Given the description of an element on the screen output the (x, y) to click on. 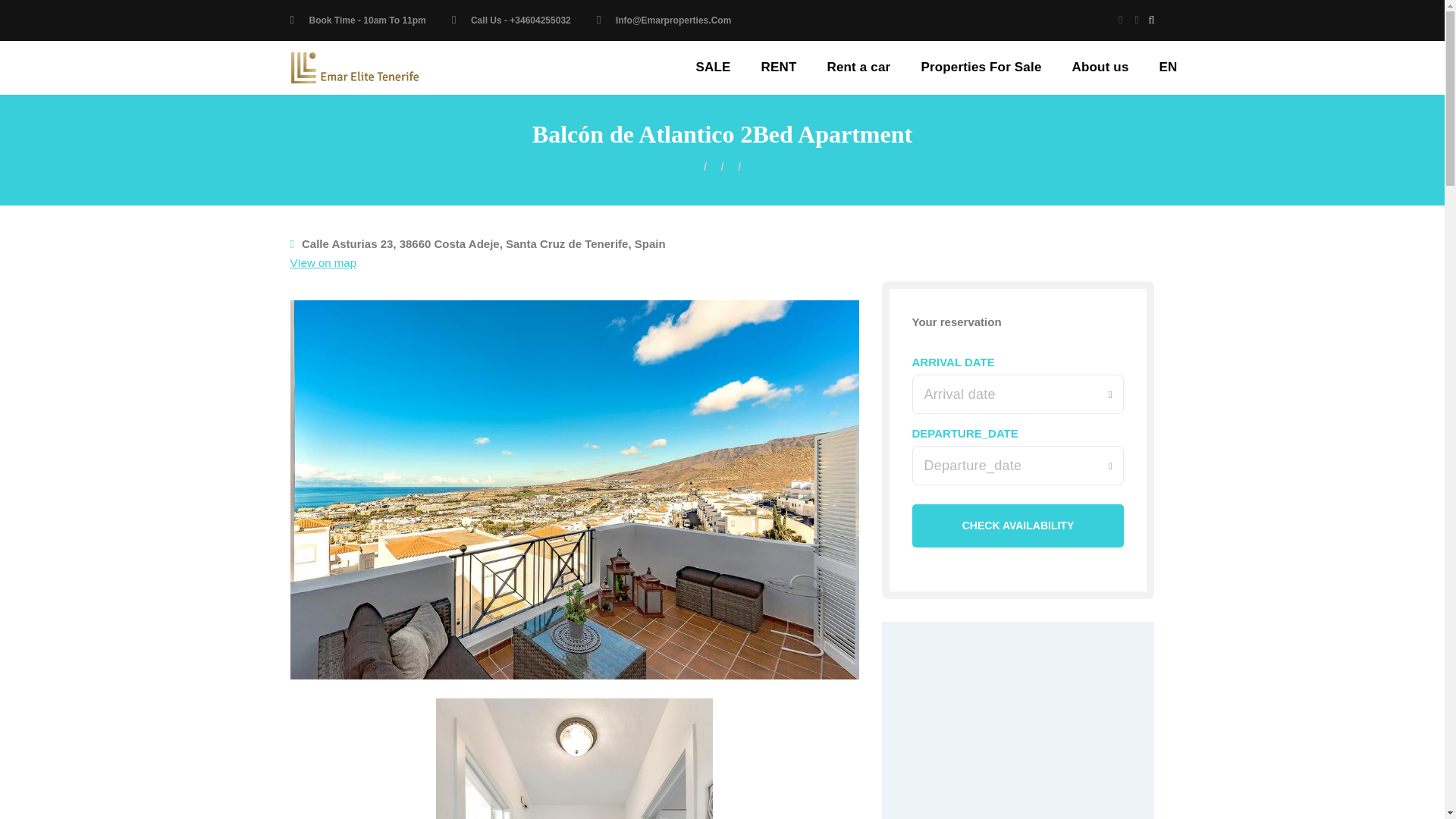
CHECK AVAILABILITY (1017, 525)
About us (1100, 67)
RENT (778, 67)
SALE (712, 67)
Properties For Sale (981, 67)
Rent a car (857, 67)
